Given the description of an element on the screen output the (x, y) to click on. 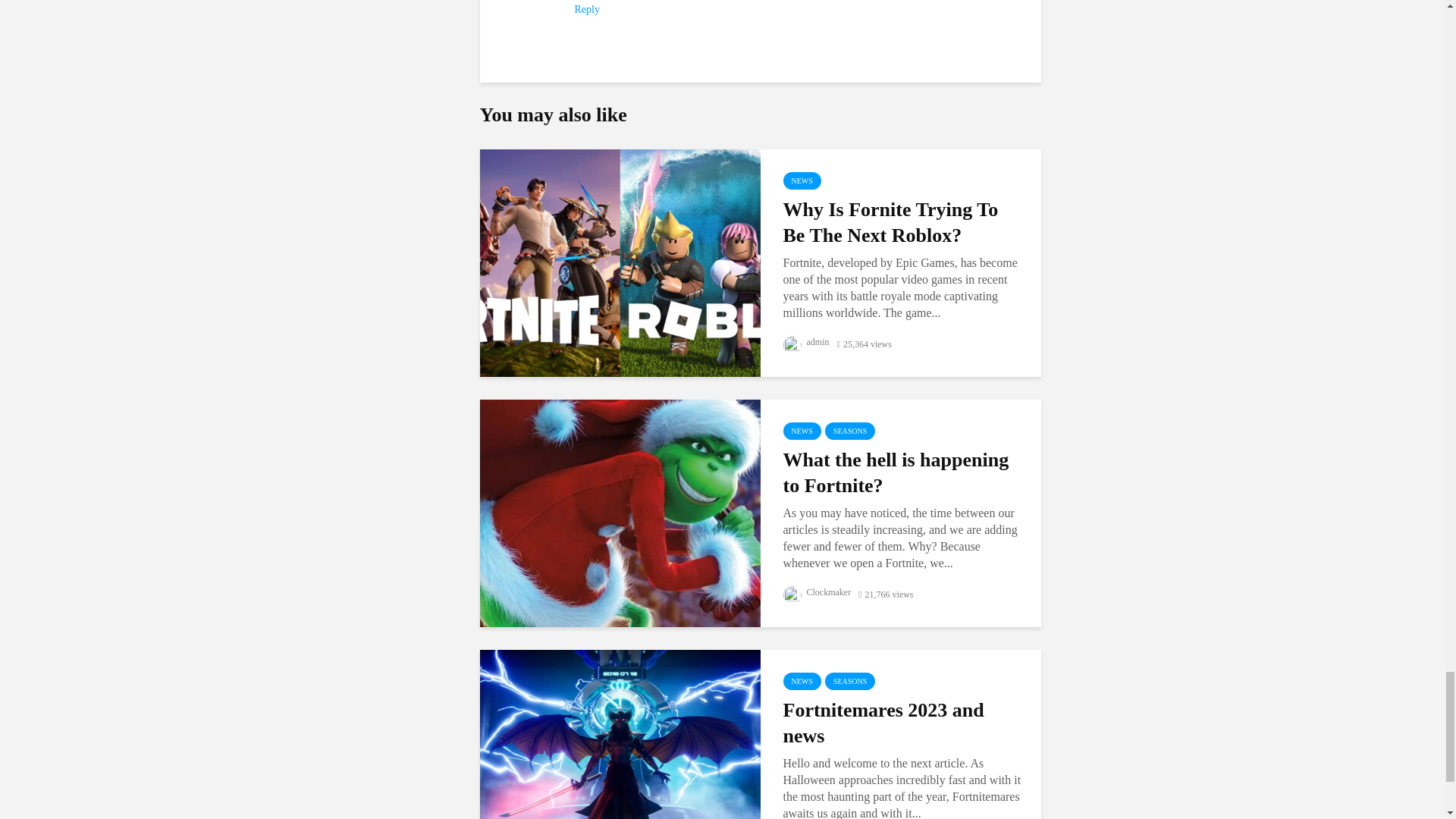
Why Is Fornite Trying To Be The Next Roblox? (619, 261)
What the hell is happening to  Fortnite? (619, 512)
Fortnitemares 2023 and news (619, 762)
